Given the description of an element on the screen output the (x, y) to click on. 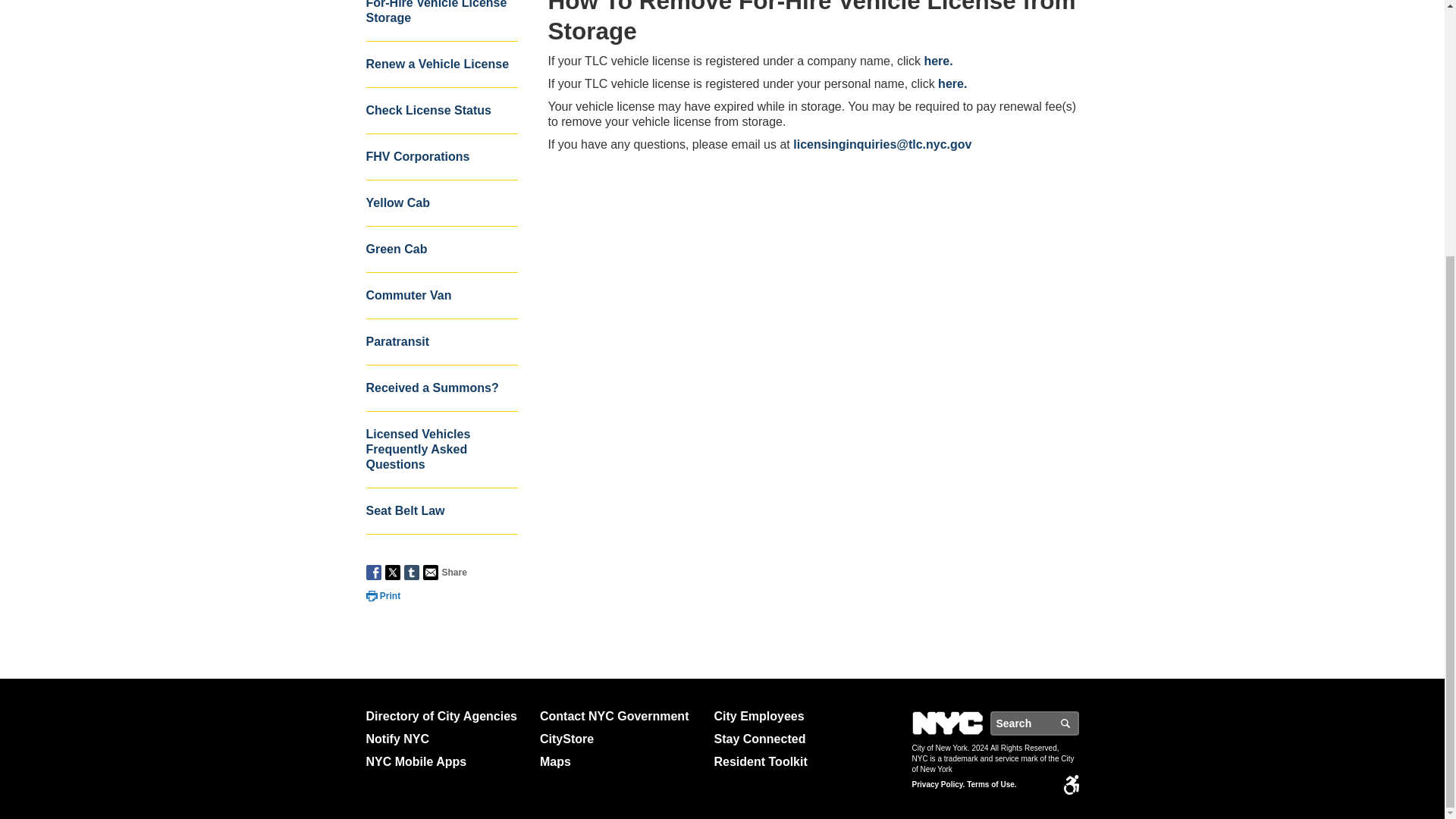
Commuter Van (440, 295)
Privacy Ploicy  (937, 784)
Received a Summons? (440, 388)
Renew a Vehicle License (440, 64)
Seat Belt Law (440, 511)
Paratransit (440, 342)
FHV Corporations (440, 157)
Yellow Cab (440, 203)
Green Cab (440, 249)
Terms of Use (991, 784)
For-Hire Vehicle License Storage (440, 20)
Licensed Vehicles Frequently Asked Questions (440, 449)
Check License Status (440, 110)
